Given the description of an element on the screen output the (x, y) to click on. 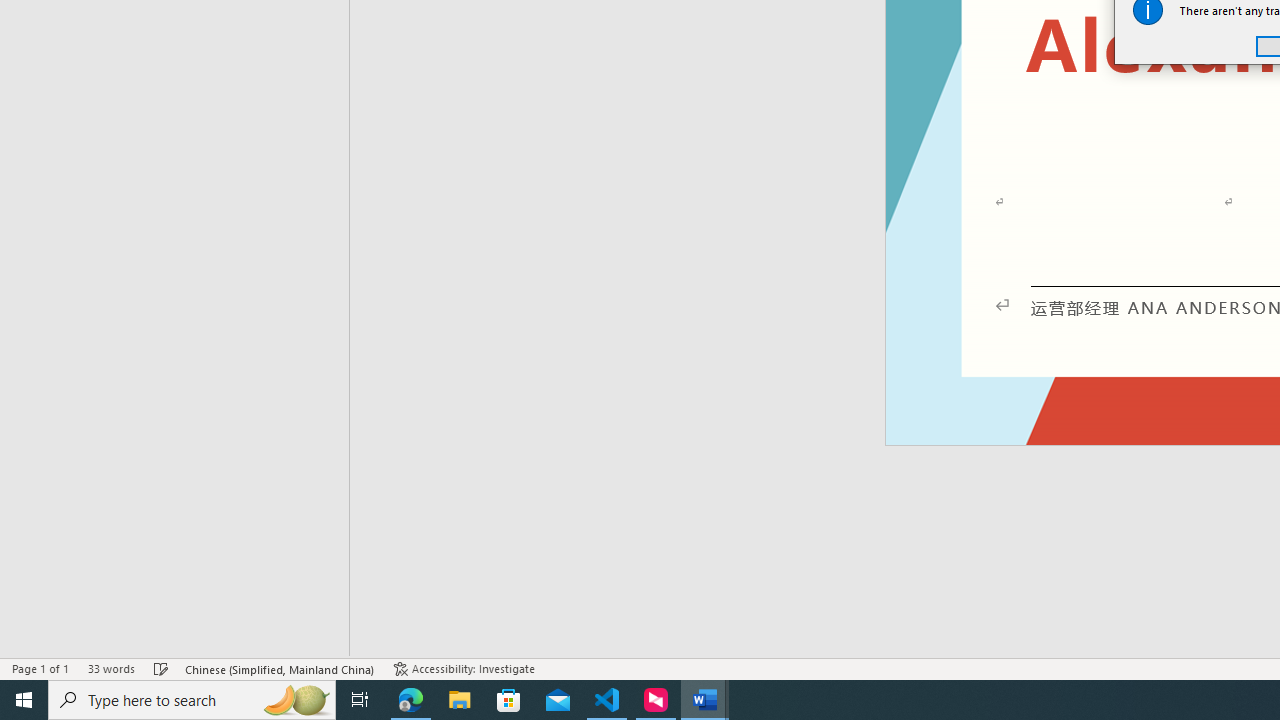
Visual Studio Code - 1 running window (607, 699)
Spelling and Grammar Check Checking (161, 668)
Search highlights icon opens search home window (295, 699)
Accessibility Checker Accessibility: Investigate (464, 668)
Microsoft Store (509, 699)
Task View (359, 699)
File Explorer (460, 699)
Word - 2 running windows (704, 699)
Page Number Page 1 of 1 (39, 668)
Language Chinese (Simplified, Mainland China) (279, 668)
Type here to search (191, 699)
Start (24, 699)
